Given the description of an element on the screen output the (x, y) to click on. 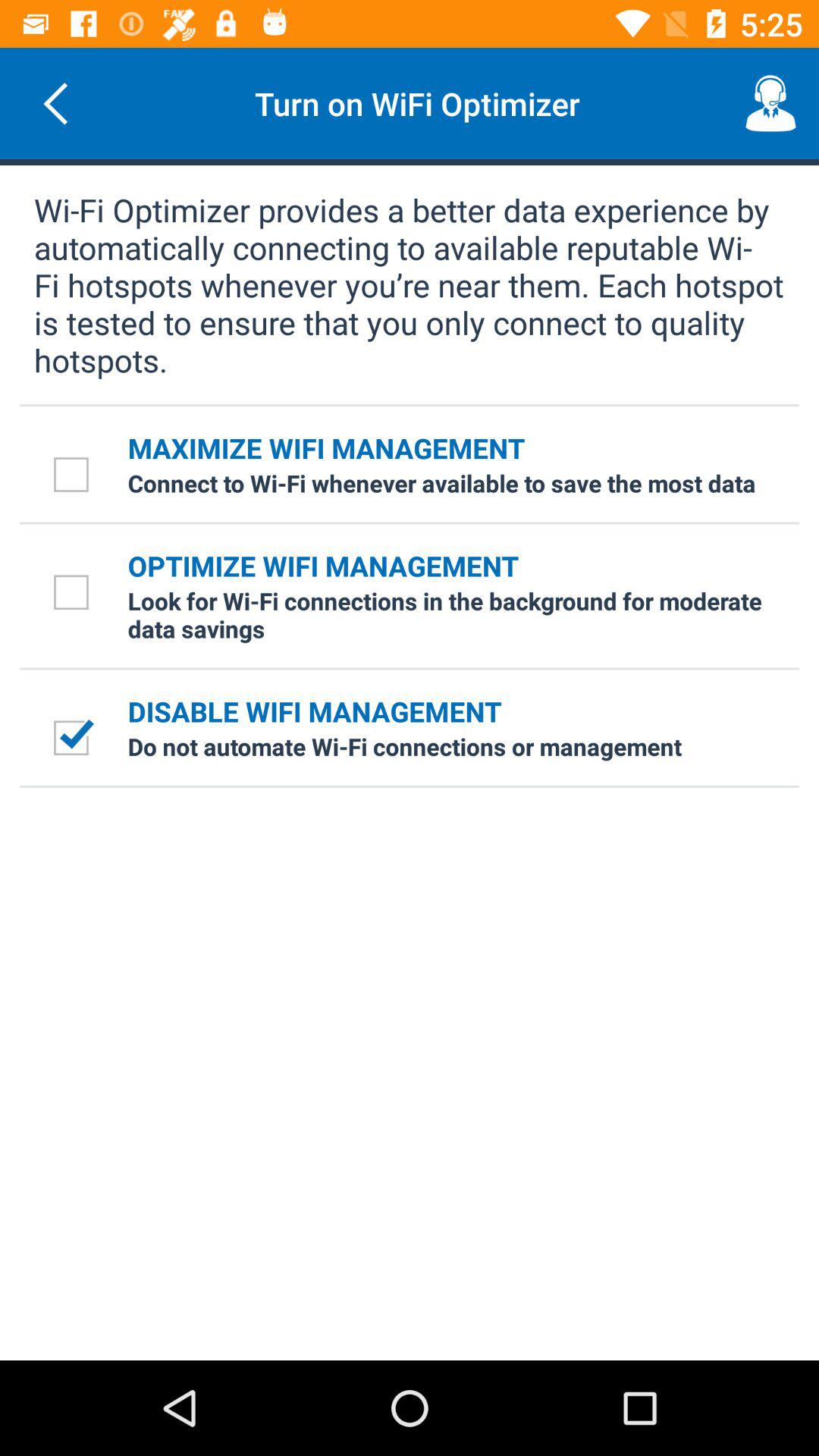
click on the button at top right corner (771, 103)
click on the check box beside the text maximize wifi management (74, 474)
